Given the description of an element on the screen output the (x, y) to click on. 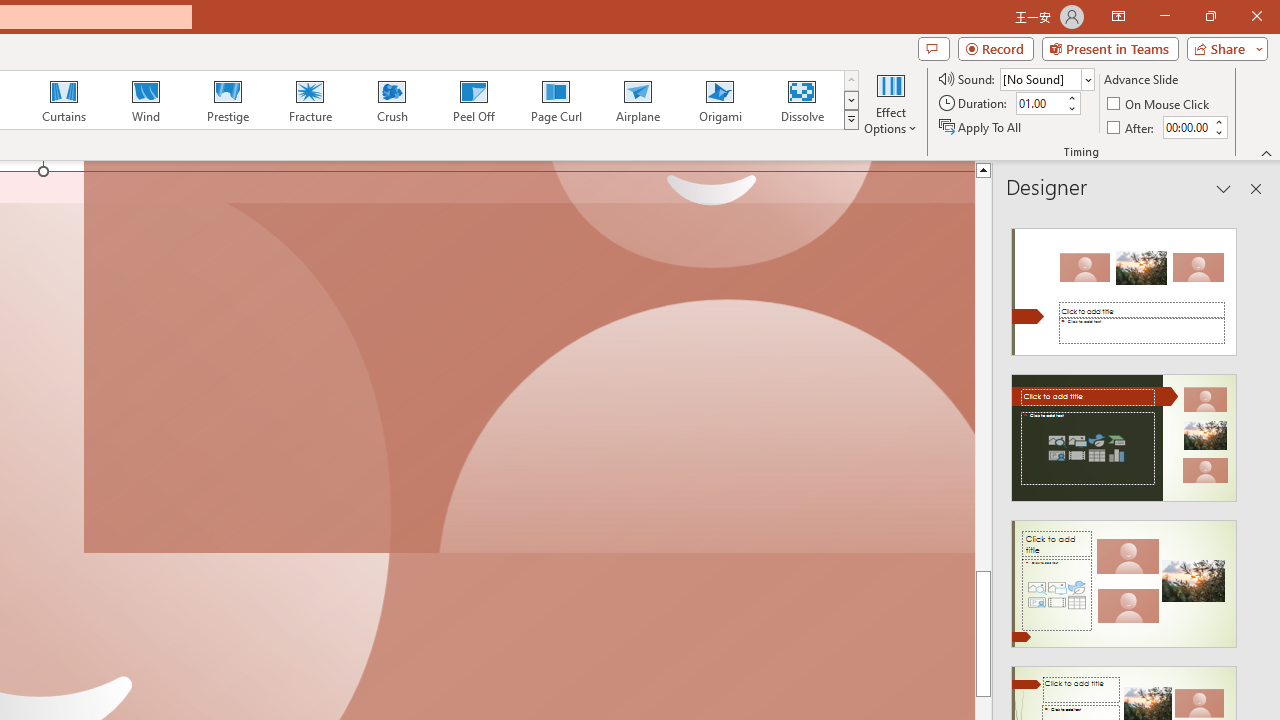
Prestige (227, 100)
Curtains (63, 100)
Camera 7, No camera detected. (529, 358)
Fracture (309, 100)
Design Idea (1124, 577)
Origami (719, 100)
Transition Effects (850, 120)
